Given the description of an element on the screen output the (x, y) to click on. 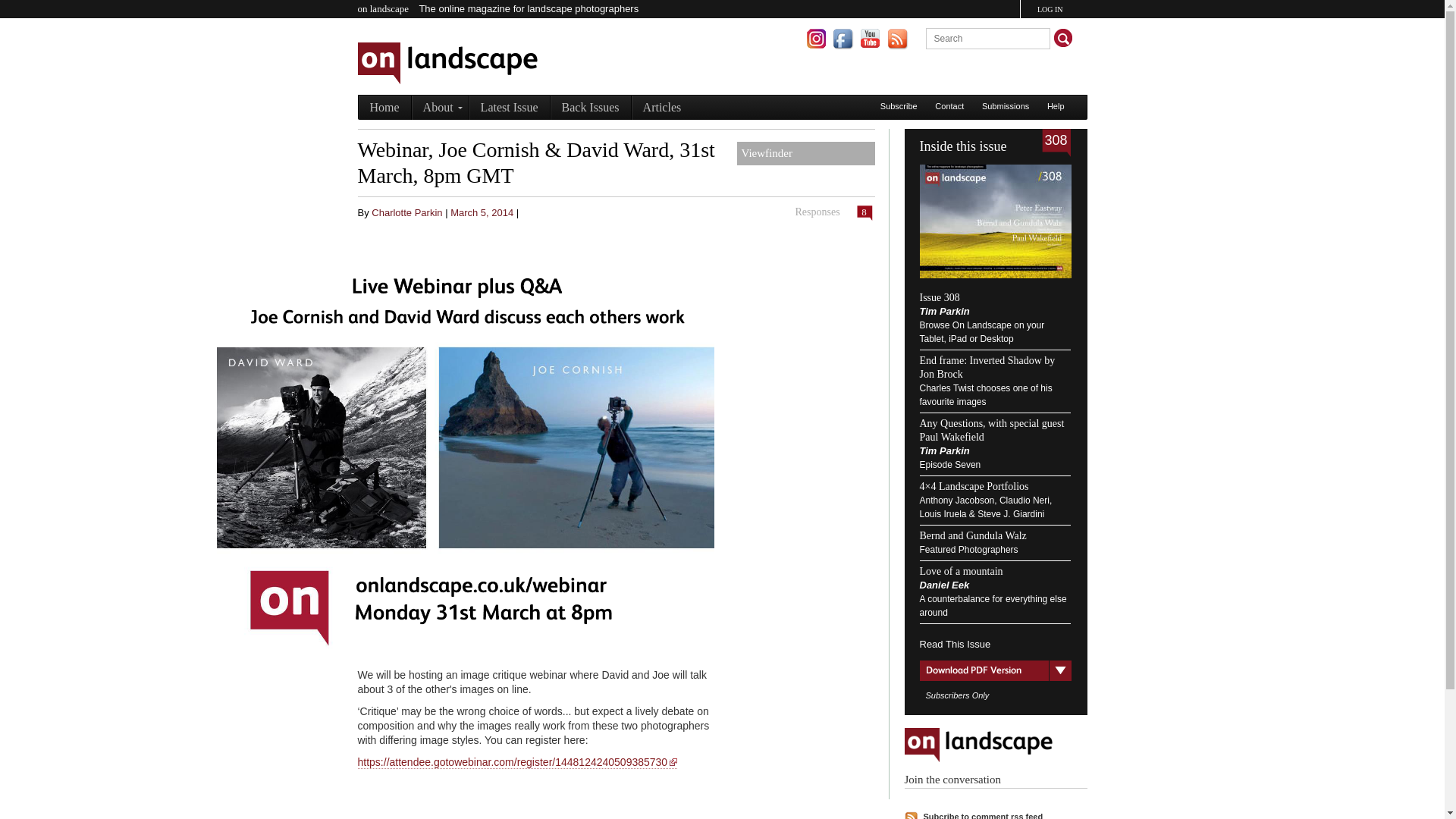
Bernd and Gundula Walz (972, 535)
8:11 pm (481, 212)
Any Questions, with special guest Paul Wakefield (991, 430)
Read This Issue (994, 636)
Latest Issue (509, 107)
Charles Twist chooses one of his favourite images (984, 395)
Submissions (1005, 105)
A counterbalance for everything else around (991, 605)
Help (1055, 105)
About (439, 107)
Tim Parkin (943, 310)
LOG IN (1049, 8)
Tim Parkin (943, 450)
Issue 308 (938, 297)
Love of a mountain (960, 571)
